Given the description of an element on the screen output the (x, y) to click on. 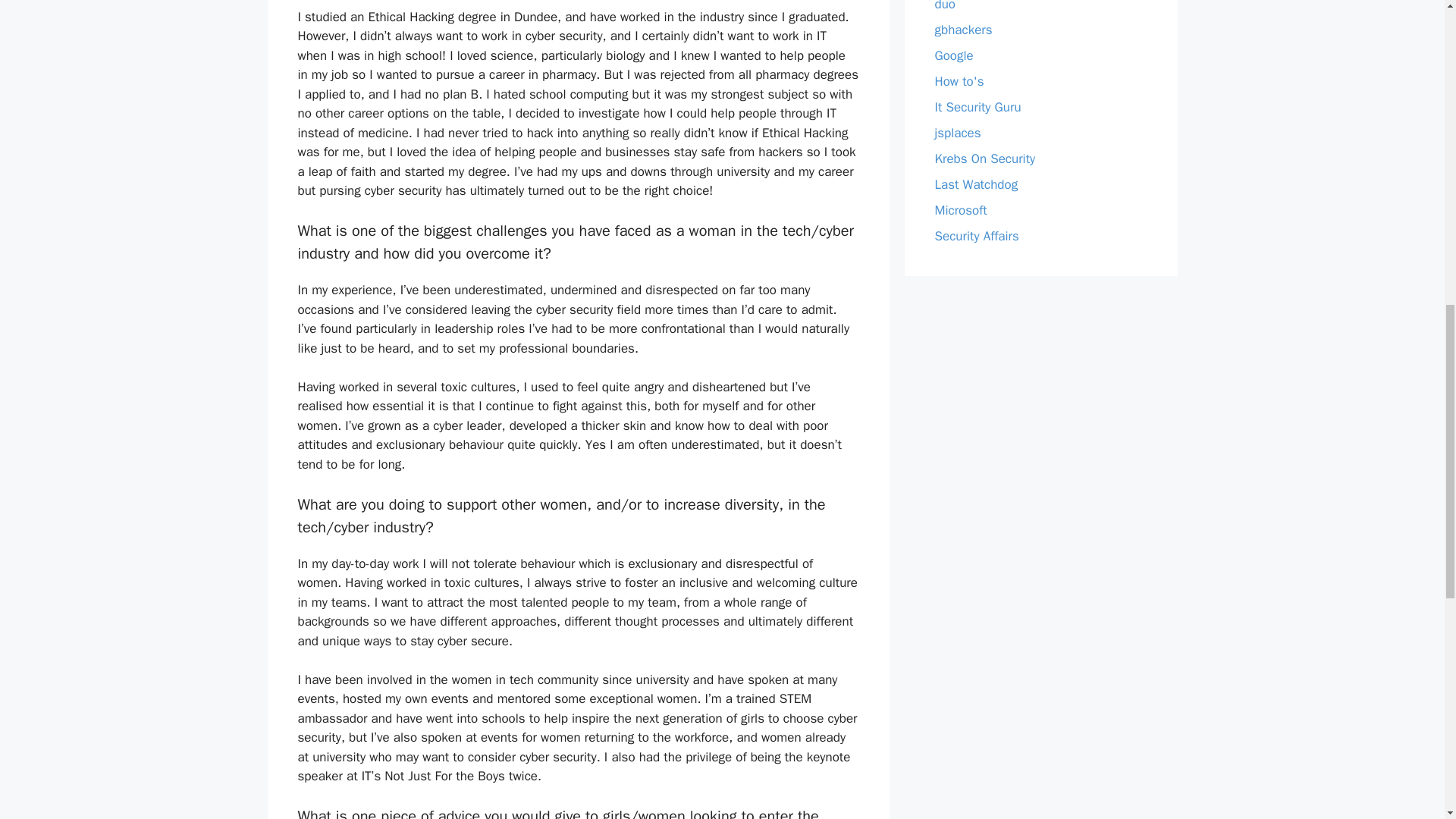
duo (944, 6)
It Security Guru (977, 107)
Scroll back to top (1406, 720)
gbhackers (962, 29)
How to's (959, 81)
jsplaces (956, 132)
Google (953, 55)
